Given the description of an element on the screen output the (x, y) to click on. 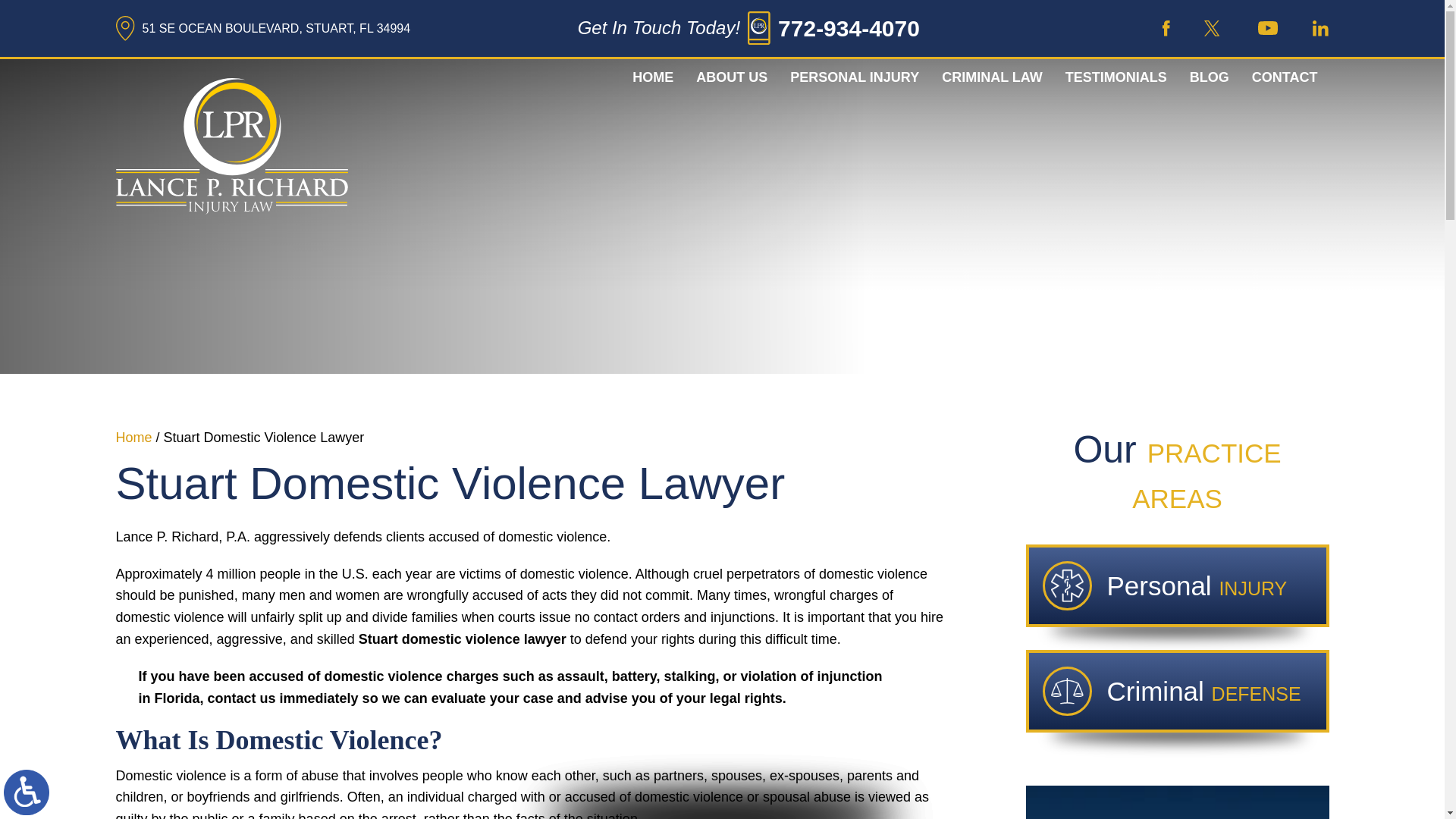
51 SE OCEAN BOULEVARD, STUART, FL 34994 (262, 27)
PERSONAL INJURY (854, 76)
Switch to ADA Accessible Theme (26, 791)
772-934-4070 (848, 28)
HOME (652, 76)
ABOUT US (731, 76)
